Given the description of an element on the screen output the (x, y) to click on. 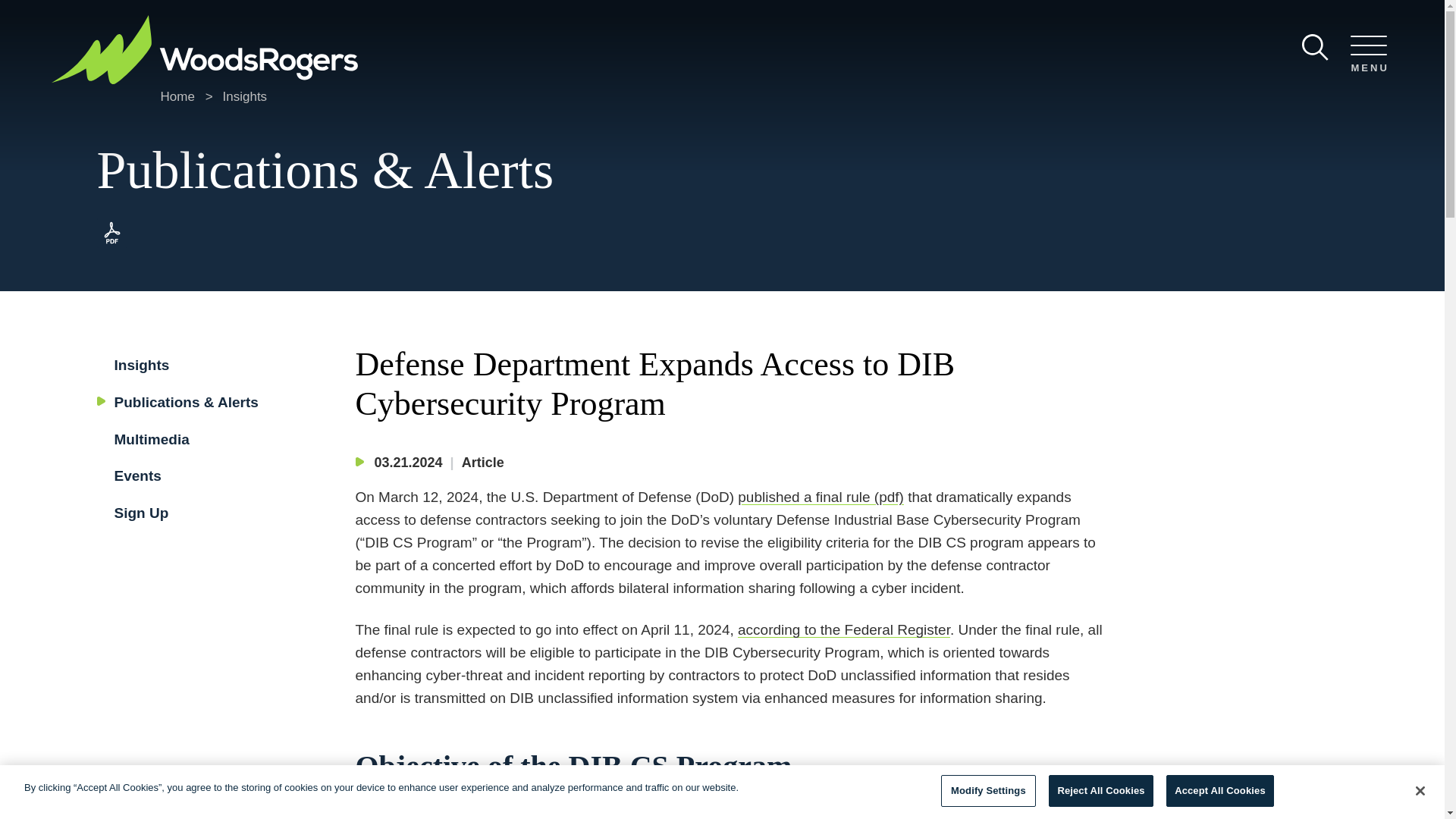
Main Menu (680, 17)
MENU (1367, 55)
Menu (680, 17)
Events (136, 475)
Multimedia (151, 439)
Home (177, 96)
Search (1314, 47)
Sign Up (140, 512)
Insights (244, 96)
Insights (140, 365)
according to the Federal Register (844, 629)
PDF (112, 232)
Menu (1367, 55)
PDF (112, 243)
Print PDF (112, 243)
